Given the description of an element on the screen output the (x, y) to click on. 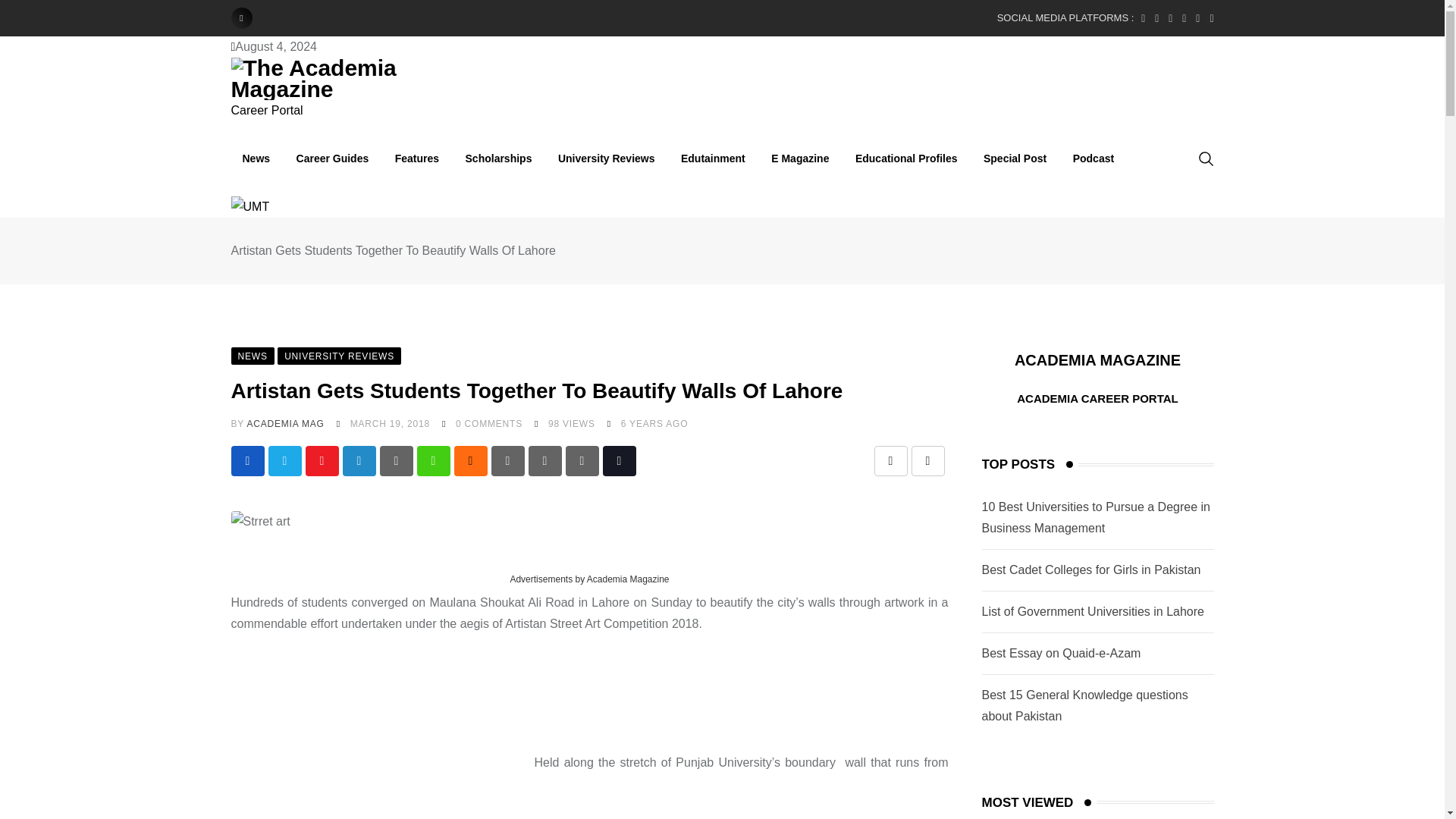
Edutainment (713, 158)
Features (416, 158)
Career Guides (332, 158)
Posts by Academia Mag (284, 423)
Scholarships (498, 158)
Special Post (1015, 158)
University Reviews (606, 158)
Educational Profiles (906, 158)
E Magazine (800, 158)
Career Portal (266, 110)
Search (1205, 157)
